Given the description of an element on the screen output the (x, y) to click on. 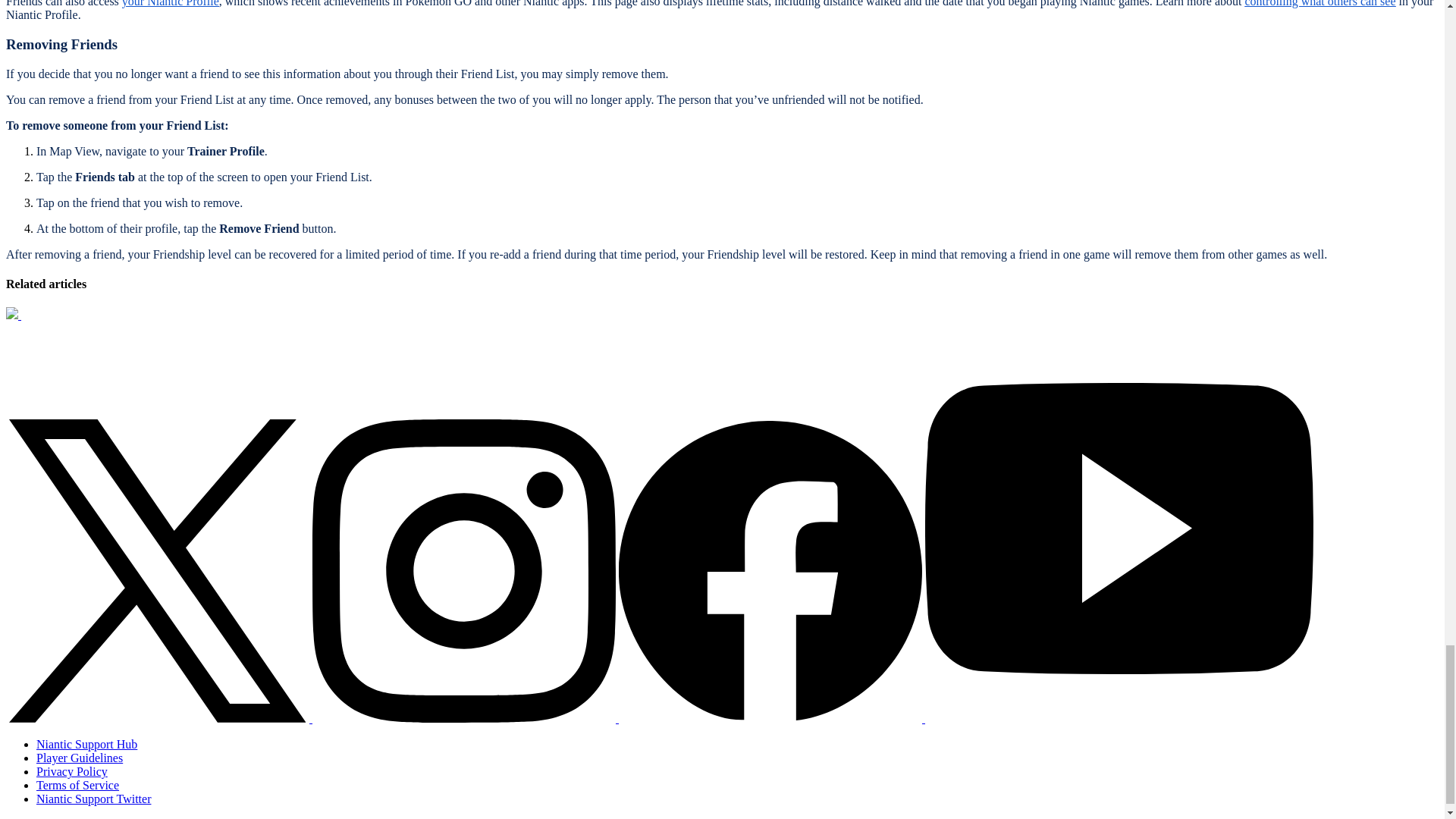
Terms of Service (77, 784)
Logo Youtube (1118, 717)
Logo Facebook (771, 717)
Logo Facebook (769, 570)
your Niantic Profile (170, 3)
Logo Instagram (465, 717)
controlling what others can see (1320, 3)
Niantic Support Hub (86, 744)
Logo Instagram (464, 570)
Player Guidelines (79, 757)
Privacy Policy (71, 771)
Niantic Support Twitter (93, 798)
